Given the description of an element on the screen output the (x, y) to click on. 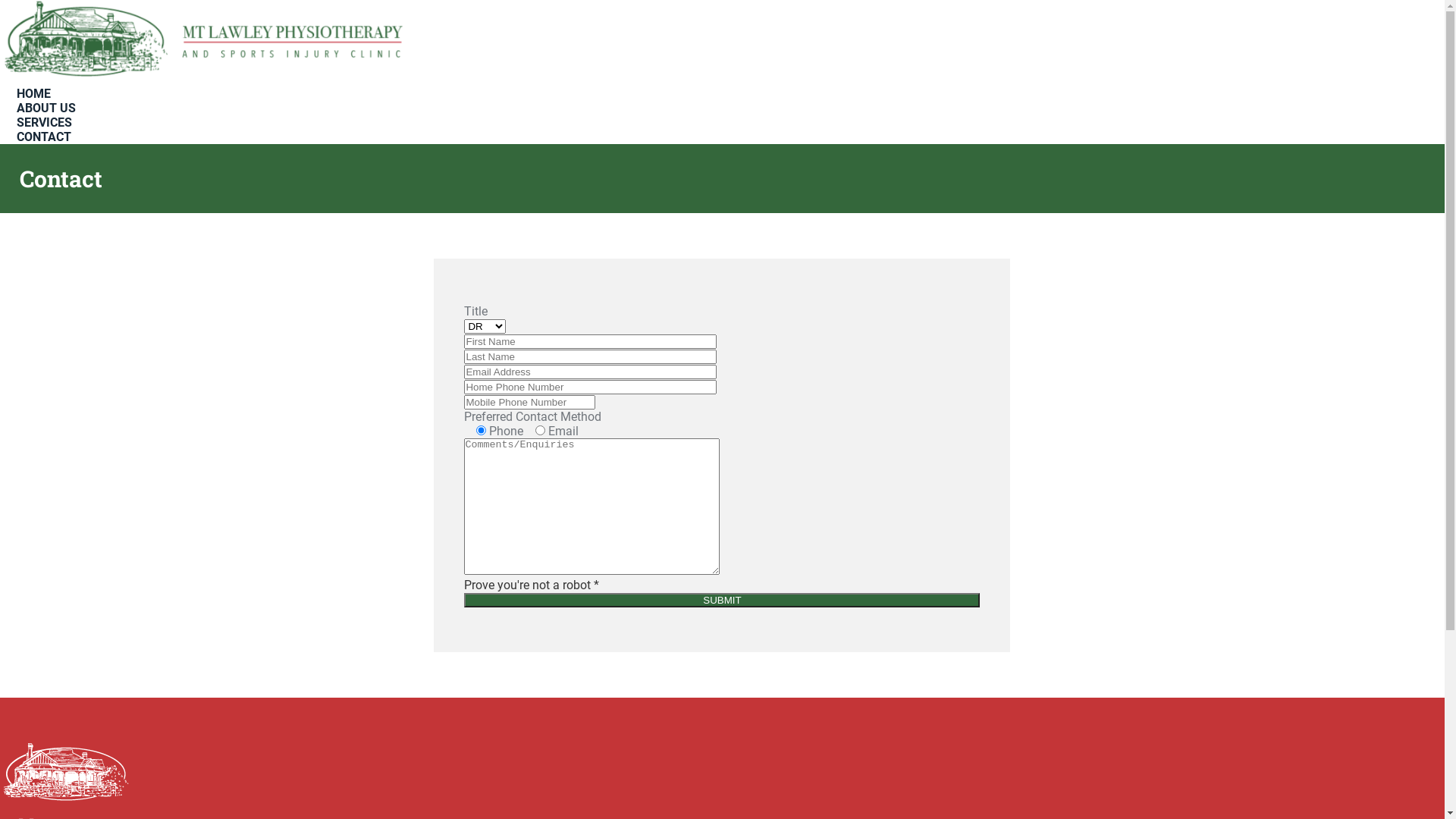
CONTACT Element type: text (44, 136)
HOME Element type: text (34, 93)
ABOUT US Element type: text (46, 107)
SERVICES Element type: text (44, 122)
Submit Element type: text (721, 600)
